Given the description of an element on the screen output the (x, y) to click on. 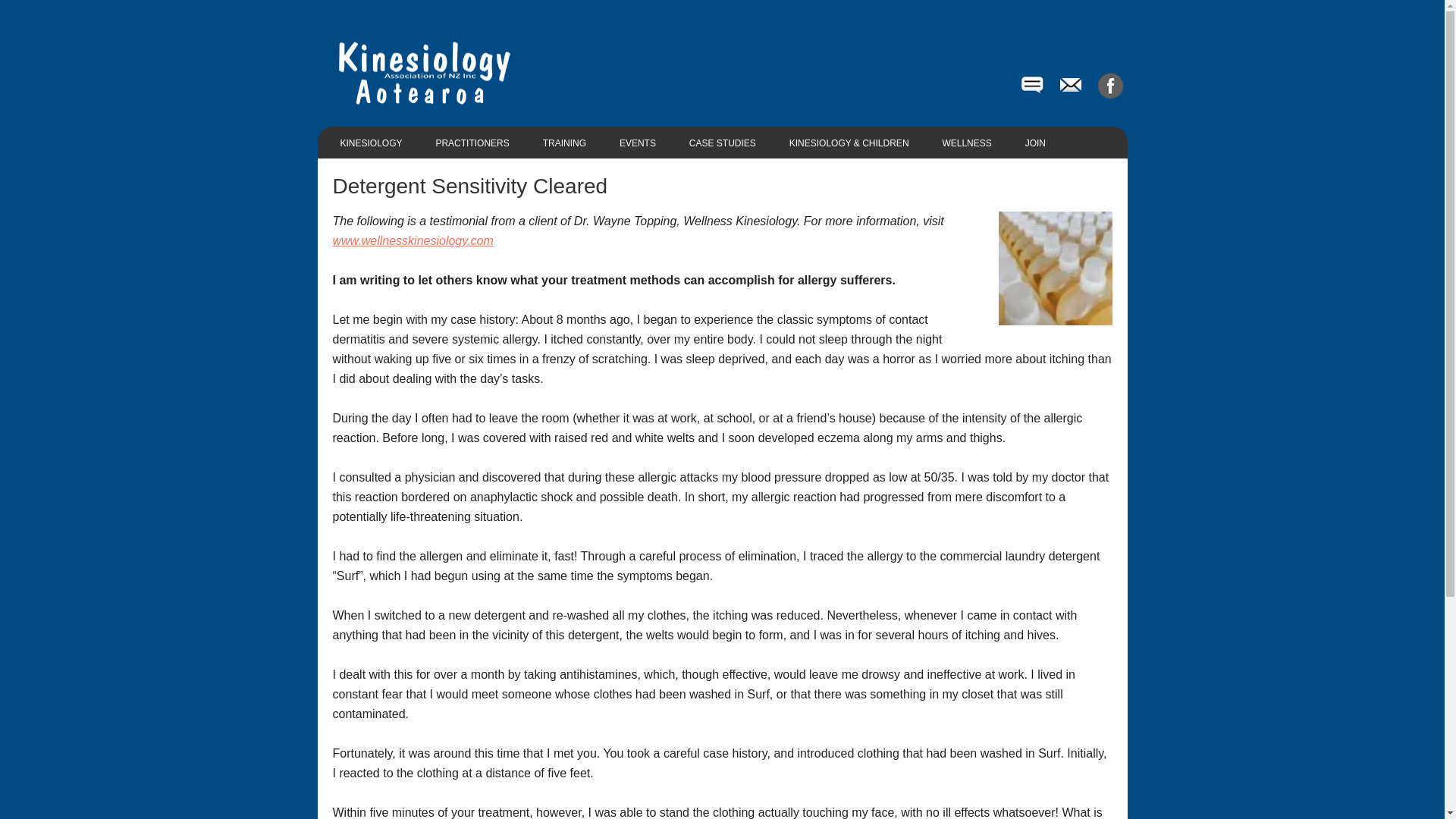
KINESIOLOGY (370, 142)
TRAINING (564, 142)
PRACTITIONERS (472, 142)
JOIN (1035, 142)
CASE STUDIES (722, 142)
WELLNESS (966, 142)
www.wellnesskinesiology.com (412, 240)
EVENTS (637, 142)
